Given the description of an element on the screen output the (x, y) to click on. 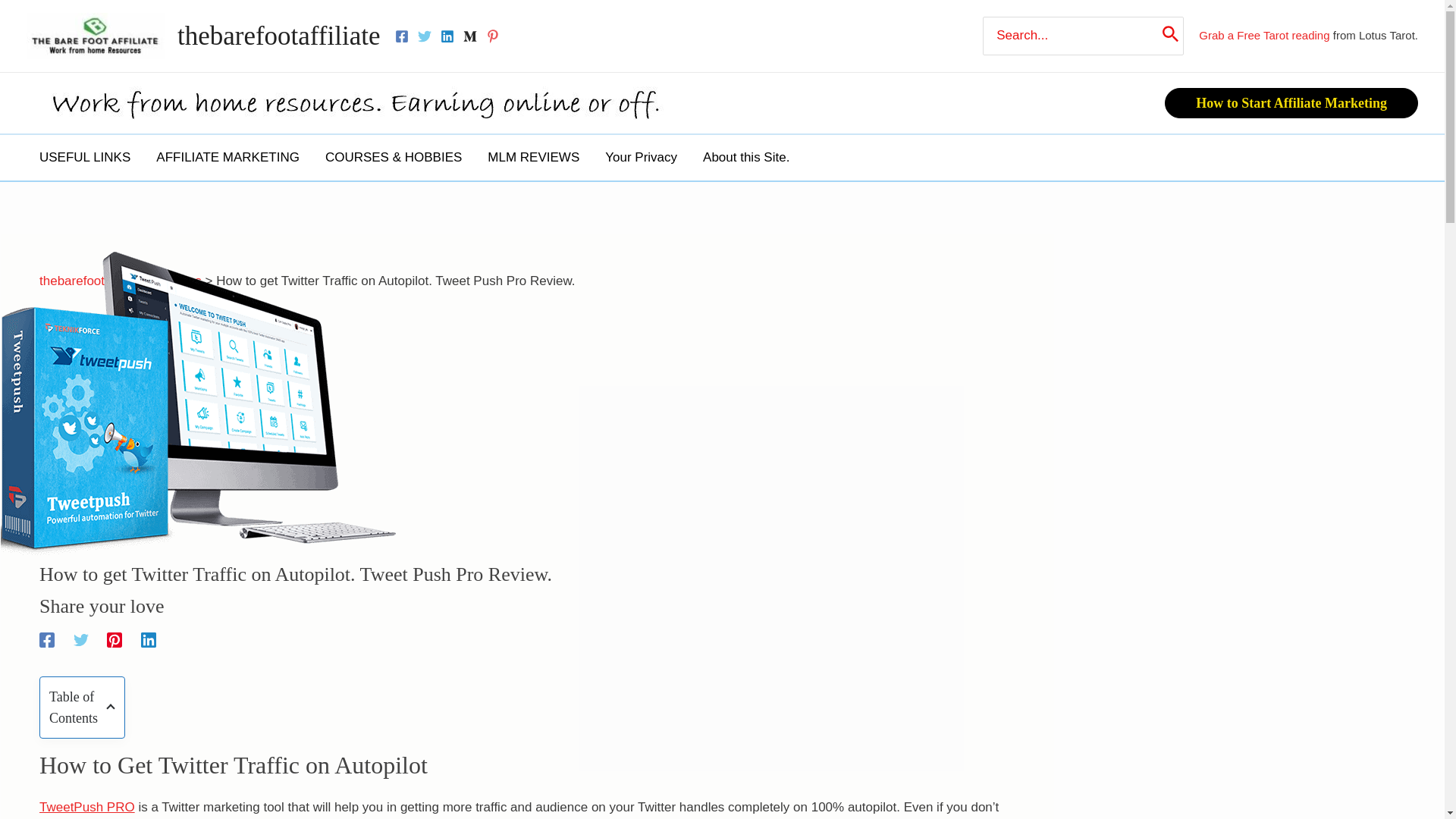
Your Privacy (641, 157)
thebarefootaffiliate (278, 35)
Go to thebarefootaffiliate. (92, 280)
Articles (180, 280)
Go to the Articles Category archives. (180, 280)
AFFILIATE MARKETING (227, 157)
MLM REVIEWS (533, 157)
About this Site. (746, 157)
thebarefootaffiliate (92, 280)
USEFUL LINKS (84, 157)
